Given the description of an element on the screen output the (x, y) to click on. 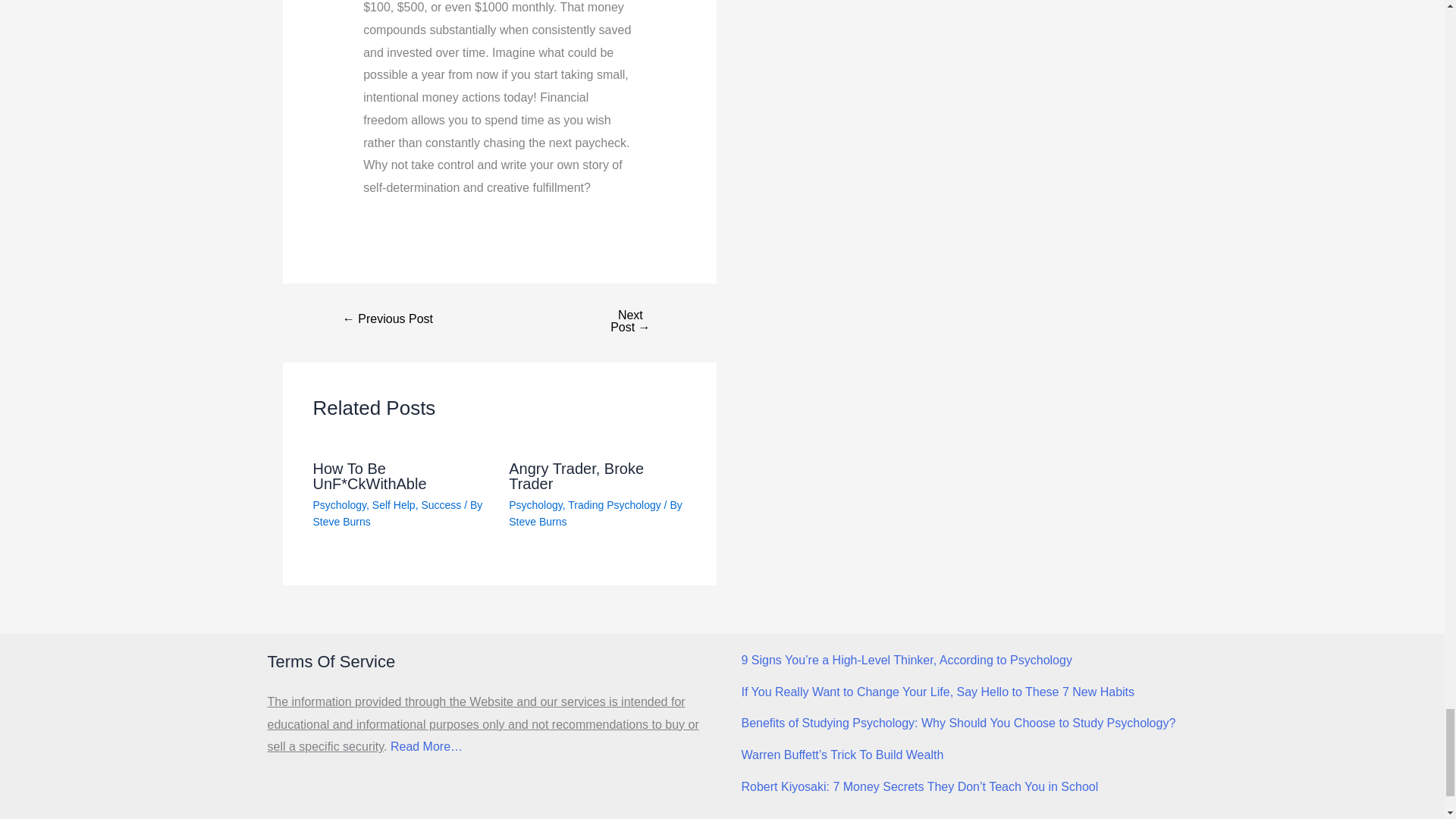
Psychology (339, 504)
Trading Psychology (614, 504)
Self Help (393, 504)
Psychology (535, 504)
View all posts by Steve Burns (537, 521)
Success (440, 504)
View all posts by Steve Burns (341, 521)
Angry Trader, Broke Trader (575, 476)
How The Ancient Stoics Accepted Change (387, 318)
Steve Burns (341, 521)
